Given the description of an element on the screen output the (x, y) to click on. 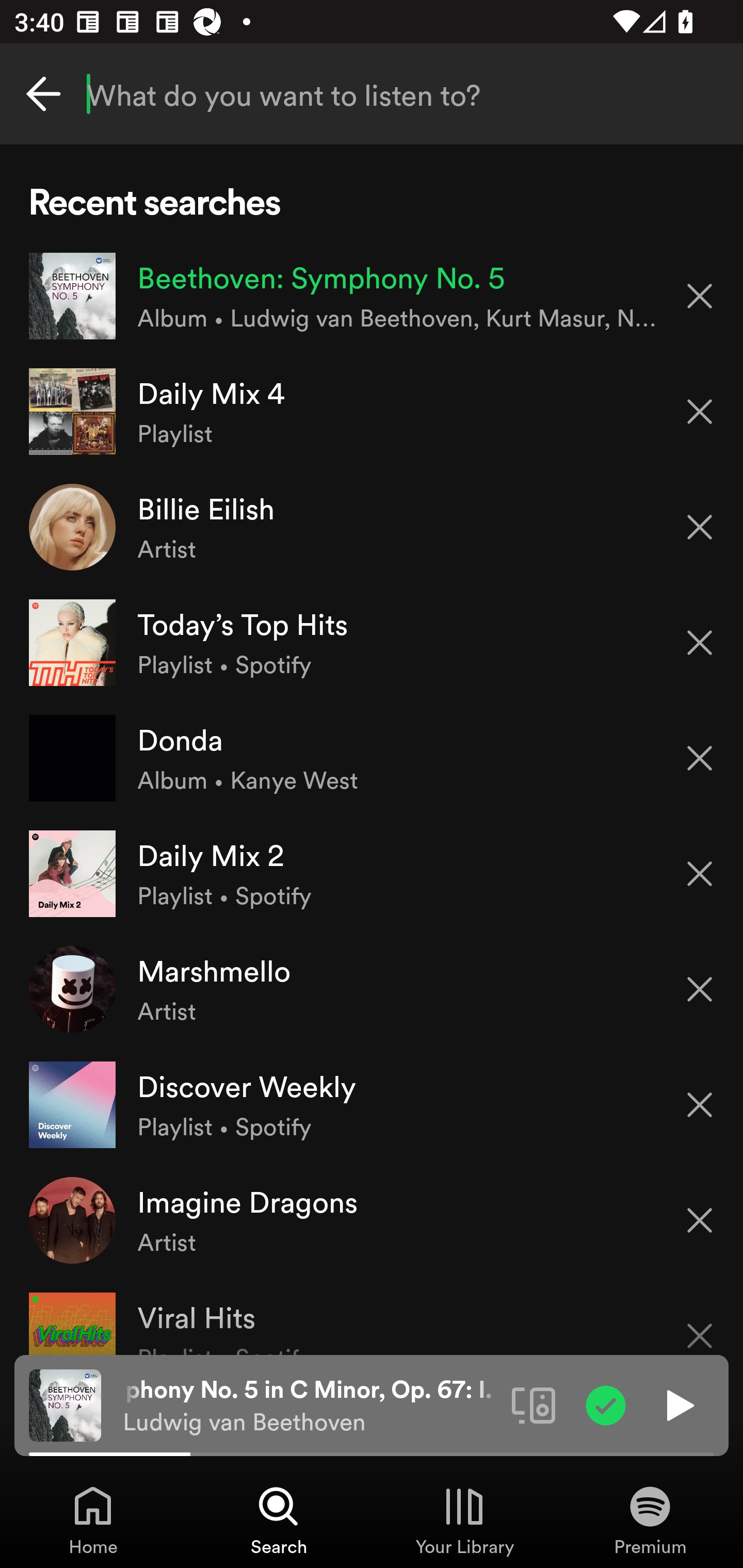
What do you want to listen to? (371, 93)
Cancel (43, 93)
Remove (699, 295)
Daily Mix 4 Playlist Remove (371, 411)
Remove (699, 411)
Billie Eilish Artist Remove (371, 526)
Remove (699, 527)
Today’s Top Hits Playlist • Spotify Remove (371, 642)
Remove (699, 642)
Donda Album • Kanye West Remove (371, 757)
Remove (699, 758)
Daily Mix 2 Playlist • Spotify Remove (371, 873)
Remove (699, 874)
Marshmello Artist Remove (371, 989)
Remove (699, 989)
Discover Weekly Playlist • Spotify Remove (371, 1104)
Remove (699, 1104)
Imagine Dragons Artist Remove (371, 1219)
Remove (699, 1220)
Viral Hits Playlist • Spotify Remove (371, 1315)
Remove (699, 1323)
The cover art of the currently playing track (64, 1404)
Connect to a device. Opens the devices menu (533, 1404)
Item added (605, 1404)
Play (677, 1404)
Home, Tab 1 of 4 Home Home (92, 1519)
Search, Tab 2 of 4 Search Search (278, 1519)
Your Library, Tab 3 of 4 Your Library Your Library (464, 1519)
Premium, Tab 4 of 4 Premium Premium (650, 1519)
